Given the description of an element on the screen output the (x, y) to click on. 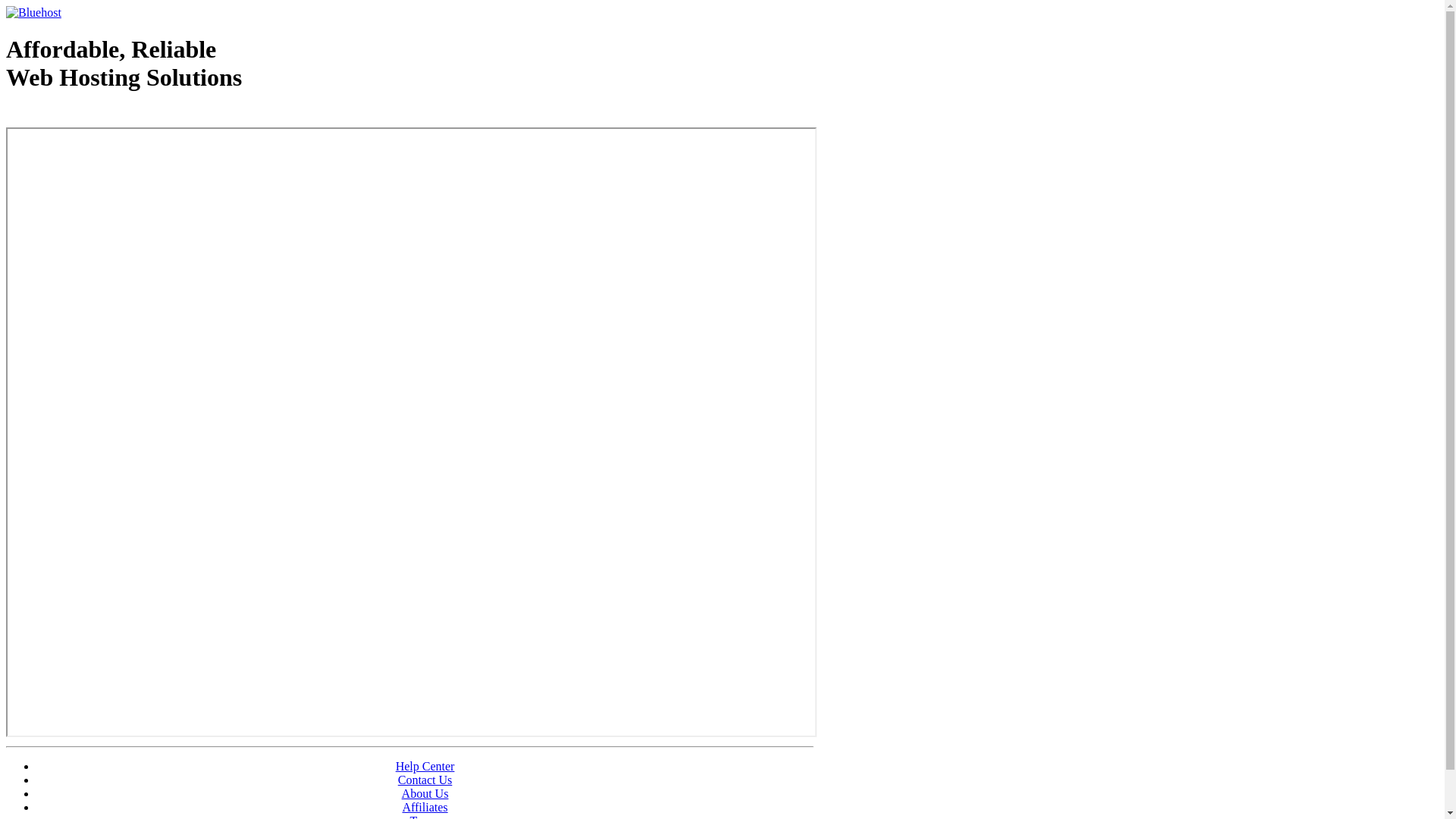
Web Hosting - courtesy of www.bluehost.com Element type: text (94, 115)
Help Center Element type: text (425, 765)
Contact Us Element type: text (425, 779)
About Us Element type: text (424, 793)
Affiliates Element type: text (424, 806)
